Given the description of an element on the screen output the (x, y) to click on. 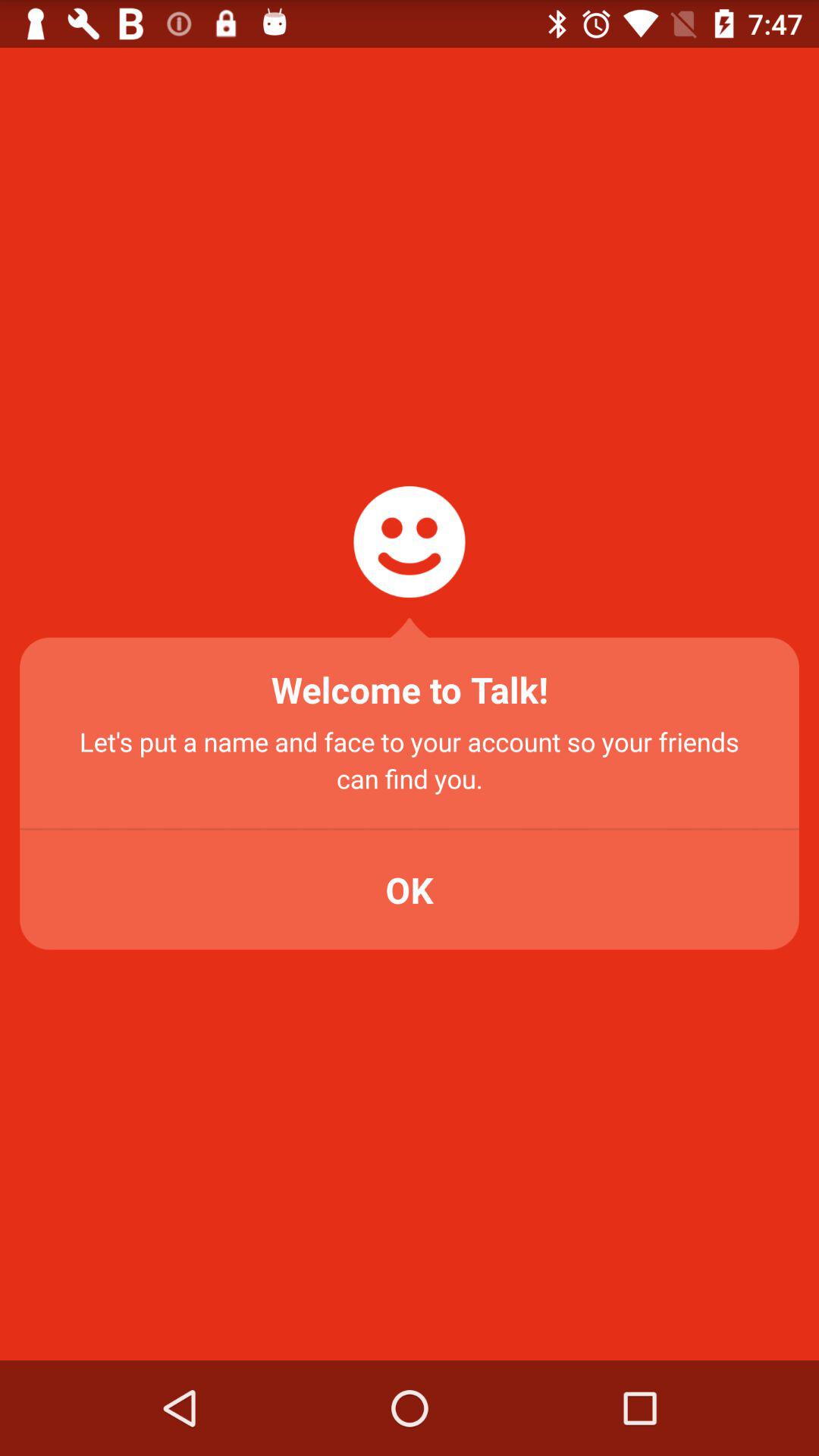
flip until the ok item (409, 889)
